Given the description of an element on the screen output the (x, y) to click on. 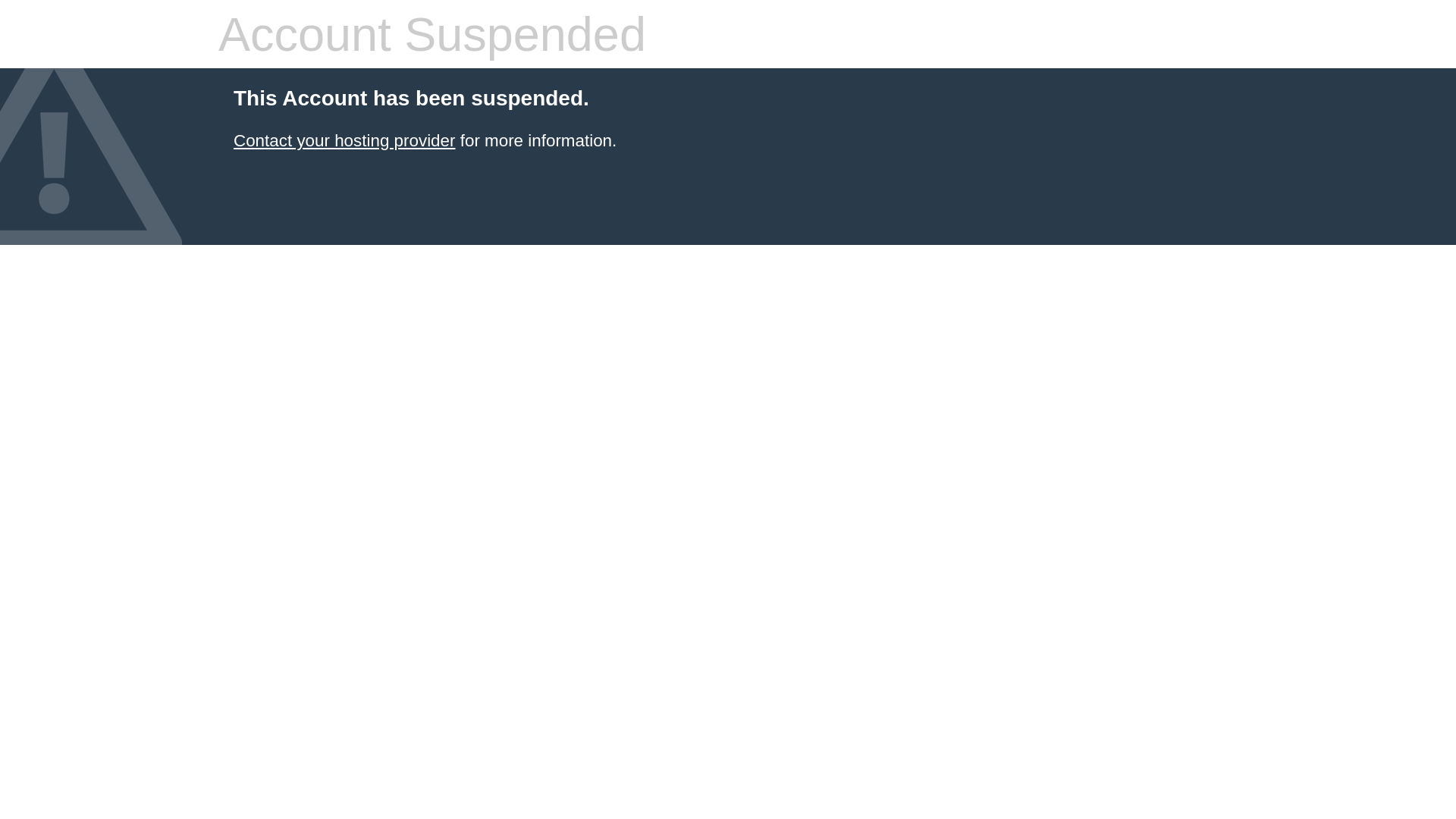
Contact your hosting provider Element type: text (344, 140)
